Given the description of an element on the screen output the (x, y) to click on. 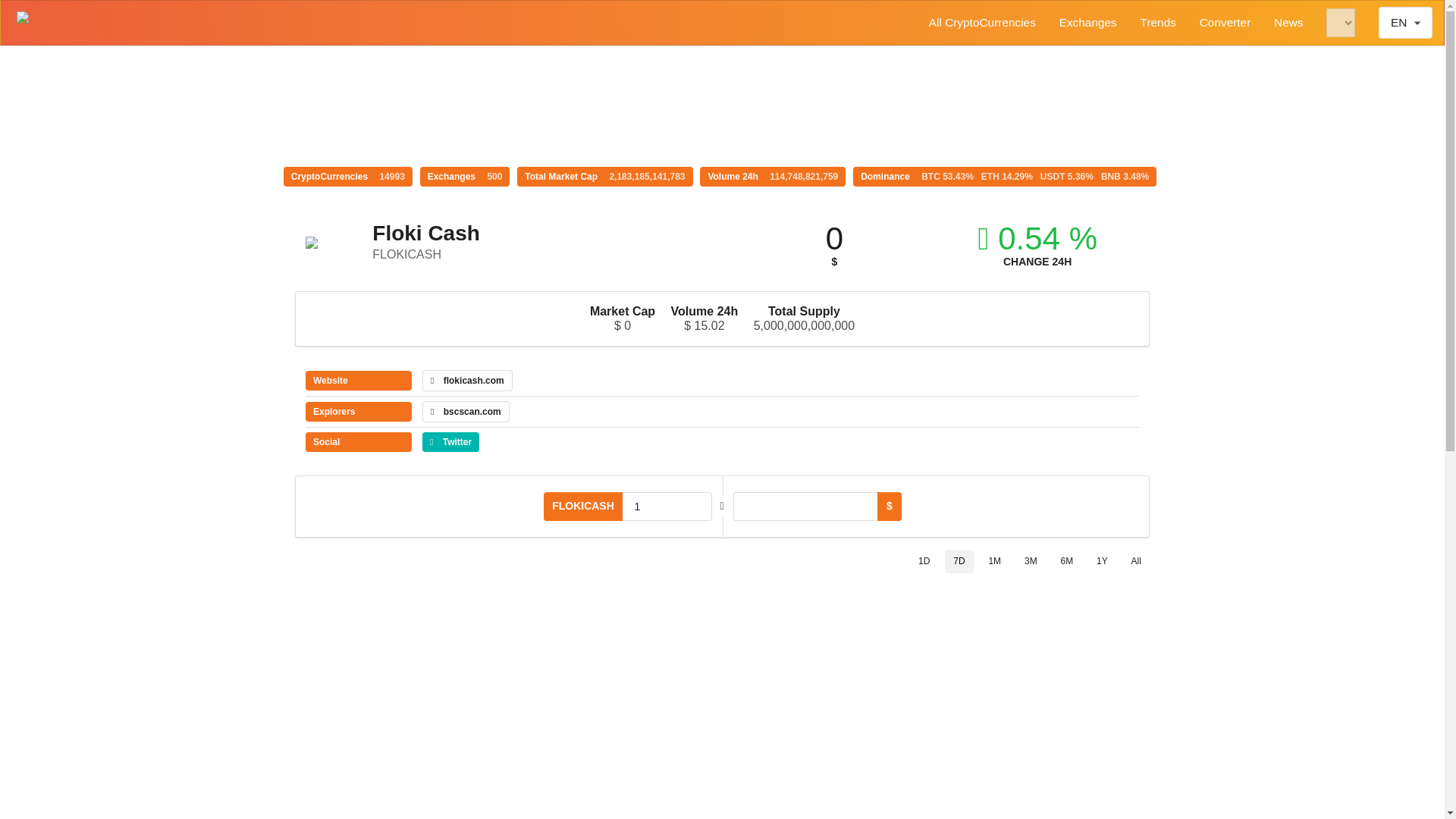
Total Market Cap 2,183,185,141,783 (604, 176)
All CryptoCurrencies (981, 22)
Converter (1225, 22)
Volume 24h 114,748,821,759 (772, 176)
News (1288, 22)
flokicash.com (467, 380)
CryptoCurrencies 14993 (347, 176)
Exchanges 500 (465, 176)
Trends (1158, 22)
bscscan.com (465, 411)
